Given the description of an element on the screen output the (x, y) to click on. 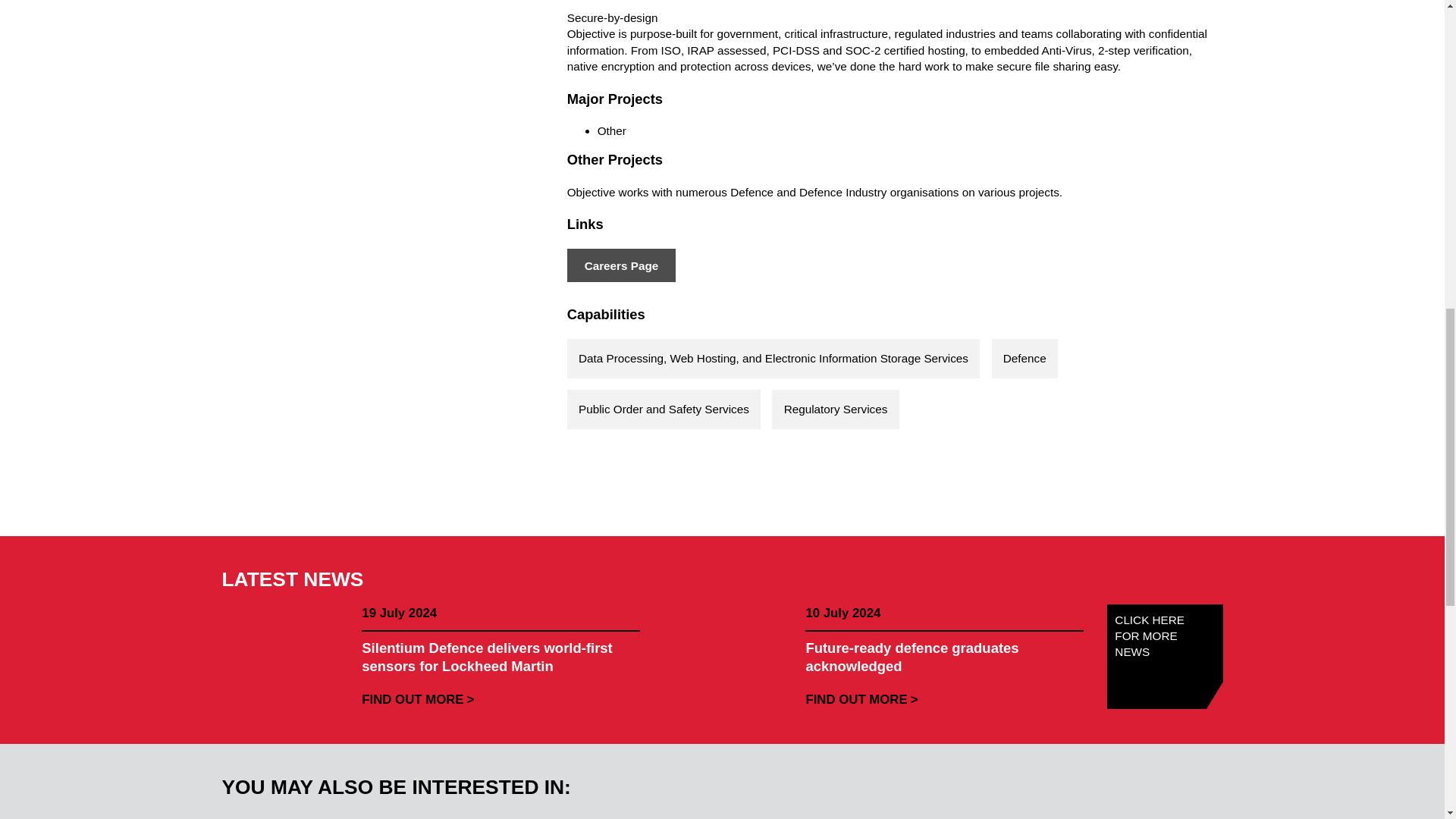
Visit careers page (621, 264)
